Given the description of an element on the screen output the (x, y) to click on. 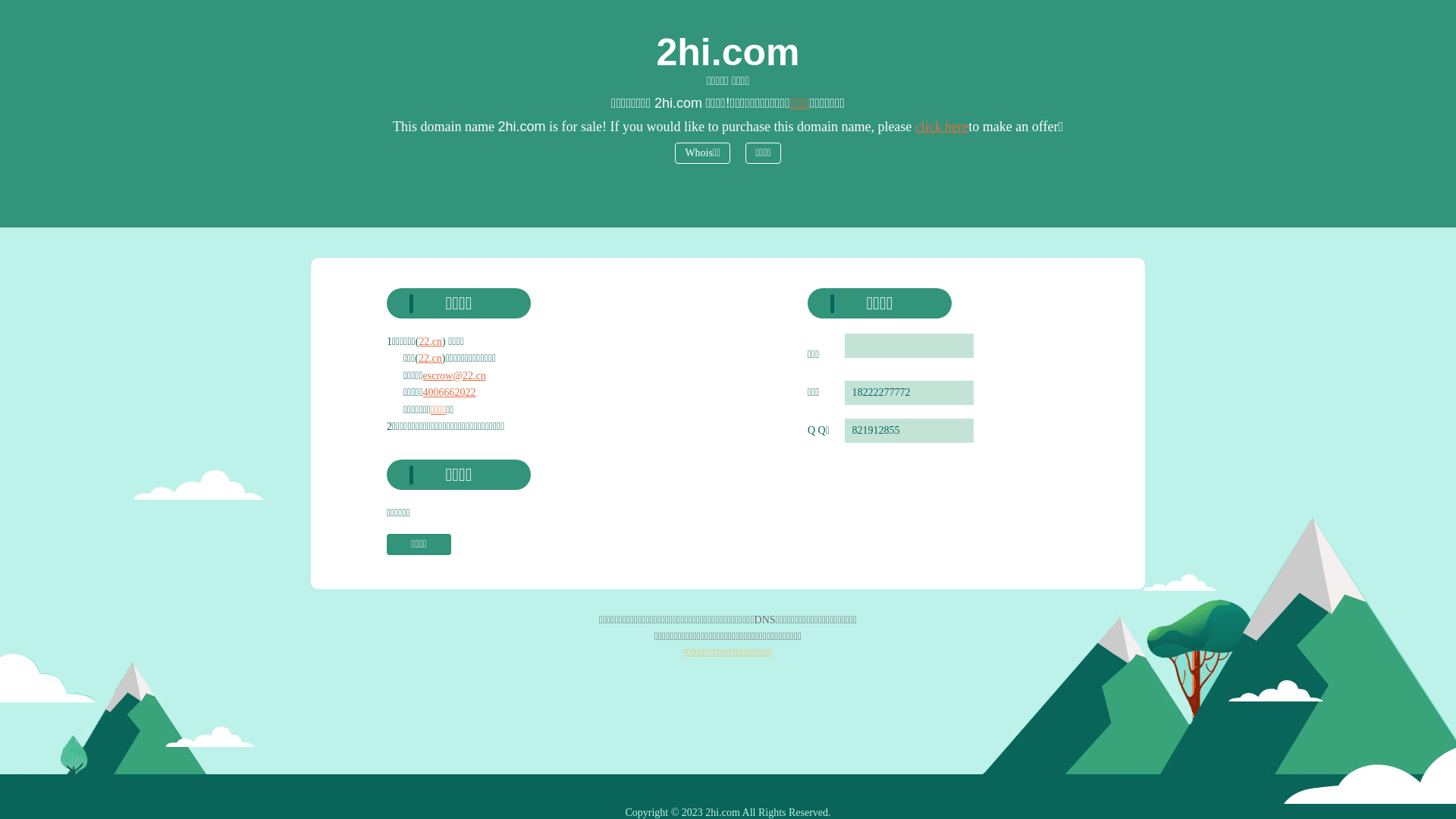
escrow@22.cn Element type: text (454, 375)
click here Element type: text (941, 126)
22.cn Element type: text (430, 341)
4006662022 Element type: text (449, 392)
22.cn Element type: text (430, 358)
